Given the description of an element on the screen output the (x, y) to click on. 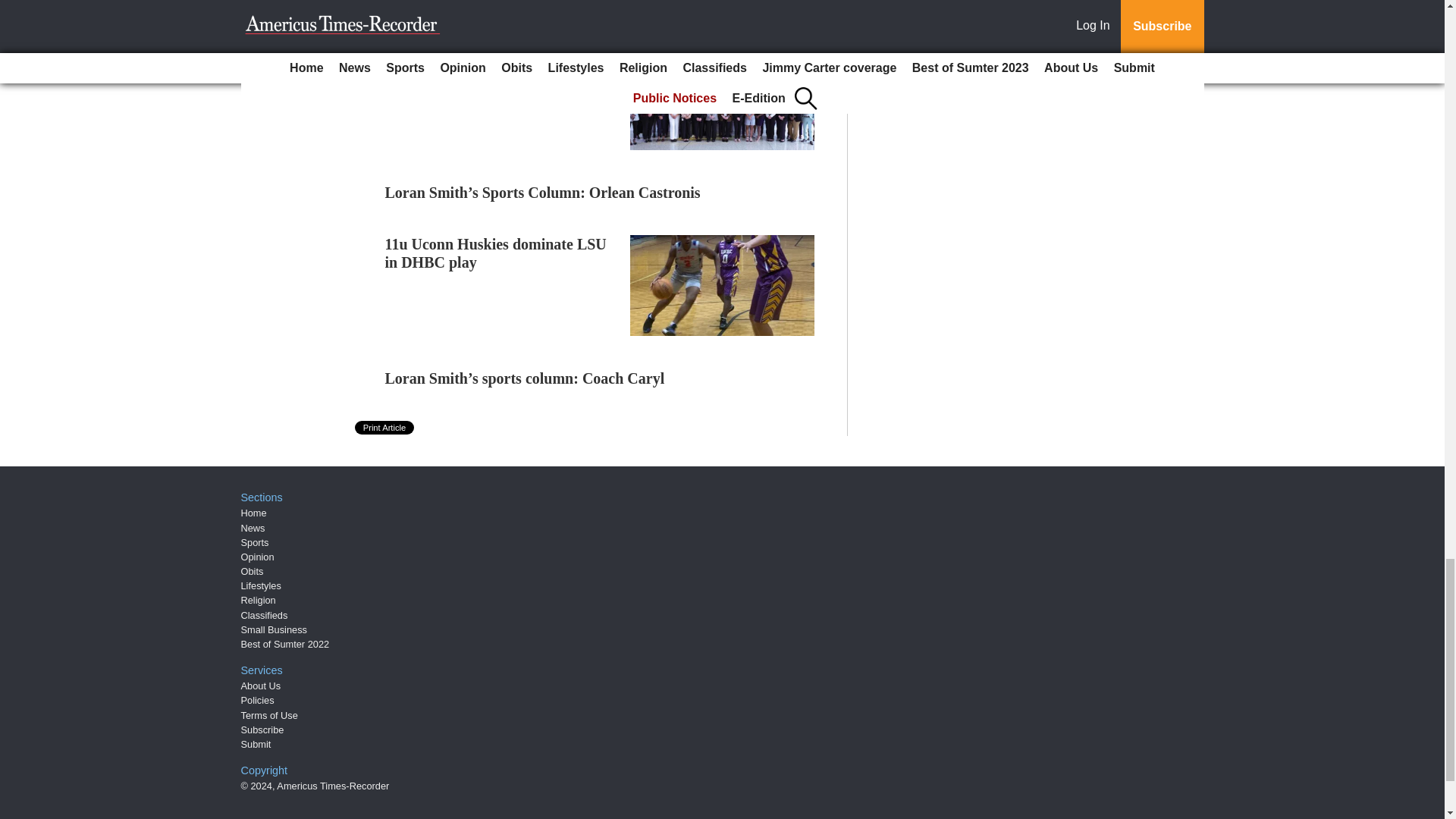
11u Uconn Huskies dominate LSU in DHBC play (496, 253)
Print Article (384, 427)
Home (253, 512)
Herrera selected for NCAA Postgraduate Internship (473, 67)
News (252, 527)
Obits (252, 571)
11u Uconn Huskies dominate LSU in DHBC play (496, 253)
Herrera selected for NCAA Postgraduate Internship (473, 67)
Opinion (258, 556)
Sports (255, 542)
